Given the description of an element on the screen output the (x, y) to click on. 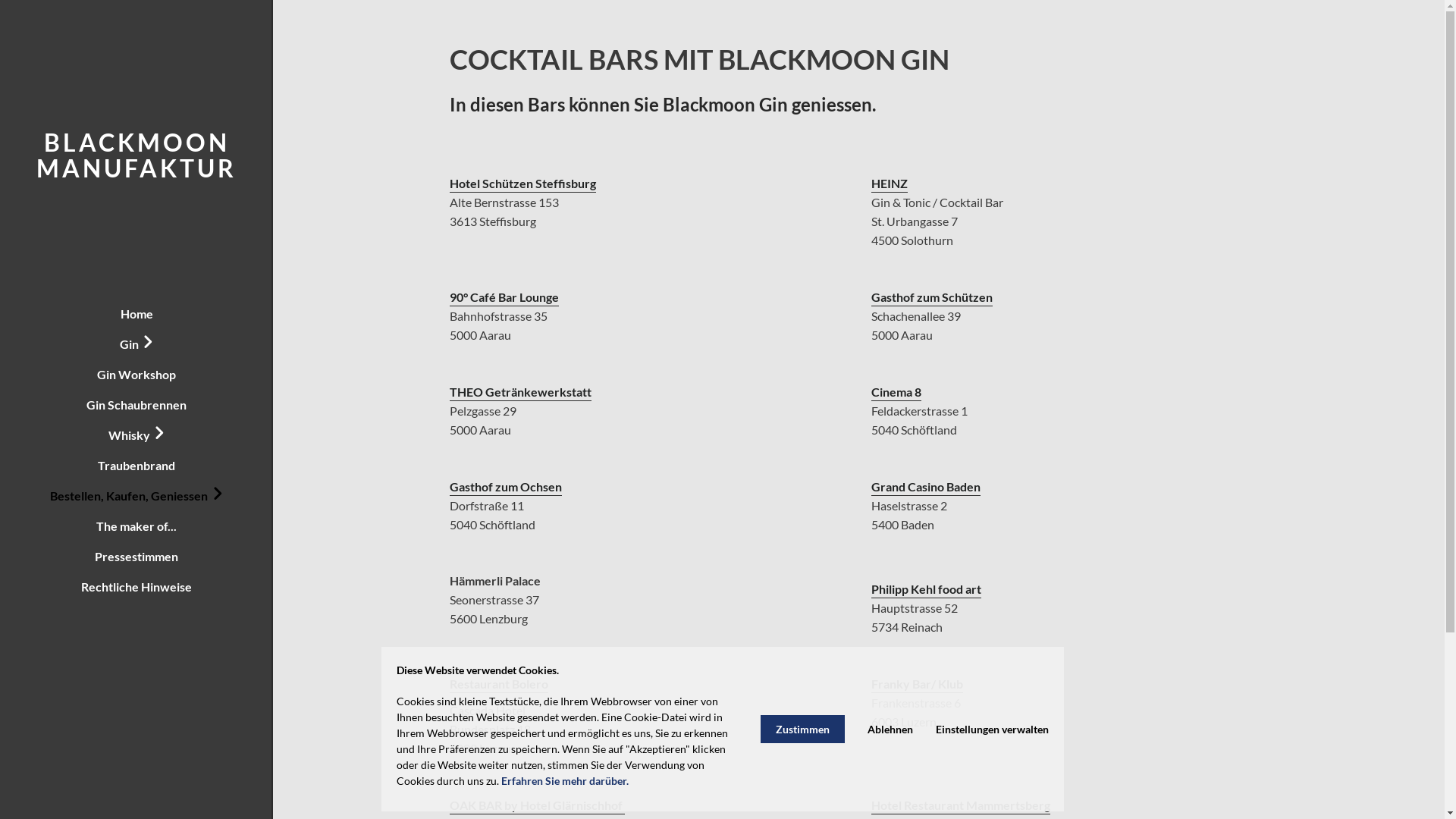
Gin Schaubrennen Element type: text (136, 404)
Philipp Kehl food art Element type: text (926, 589)
Home Element type: text (136, 313)
Ablehnen Element type: text (890, 729)
Hotel Restaurant Mammertsberg Element type: text (960, 805)
Rechtliche Hinweise Element type: text (136, 586)
Franky Bar/ Klub Element type: text (917, 683)
HEINZ Element type: text (889, 183)
Zustimmen Element type: text (801, 729)
Gasthof zum Ochsen Element type: text (504, 486)
Grand Casino Baden Element type: text (925, 486)
Pressestimmen Element type: text (136, 556)
Cinema 8 Element type: text (896, 391)
Einstellungen verwalten Element type: text (991, 729)
Traubenbrand Element type: text (136, 465)
Gin Workshop Element type: text (136, 374)
The maker of... Element type: text (136, 526)
Restaurant Bolero Element type: text (497, 683)
BLACKMOON MANUFAKTUR Element type: text (136, 154)
